Given the description of an element on the screen output the (x, y) to click on. 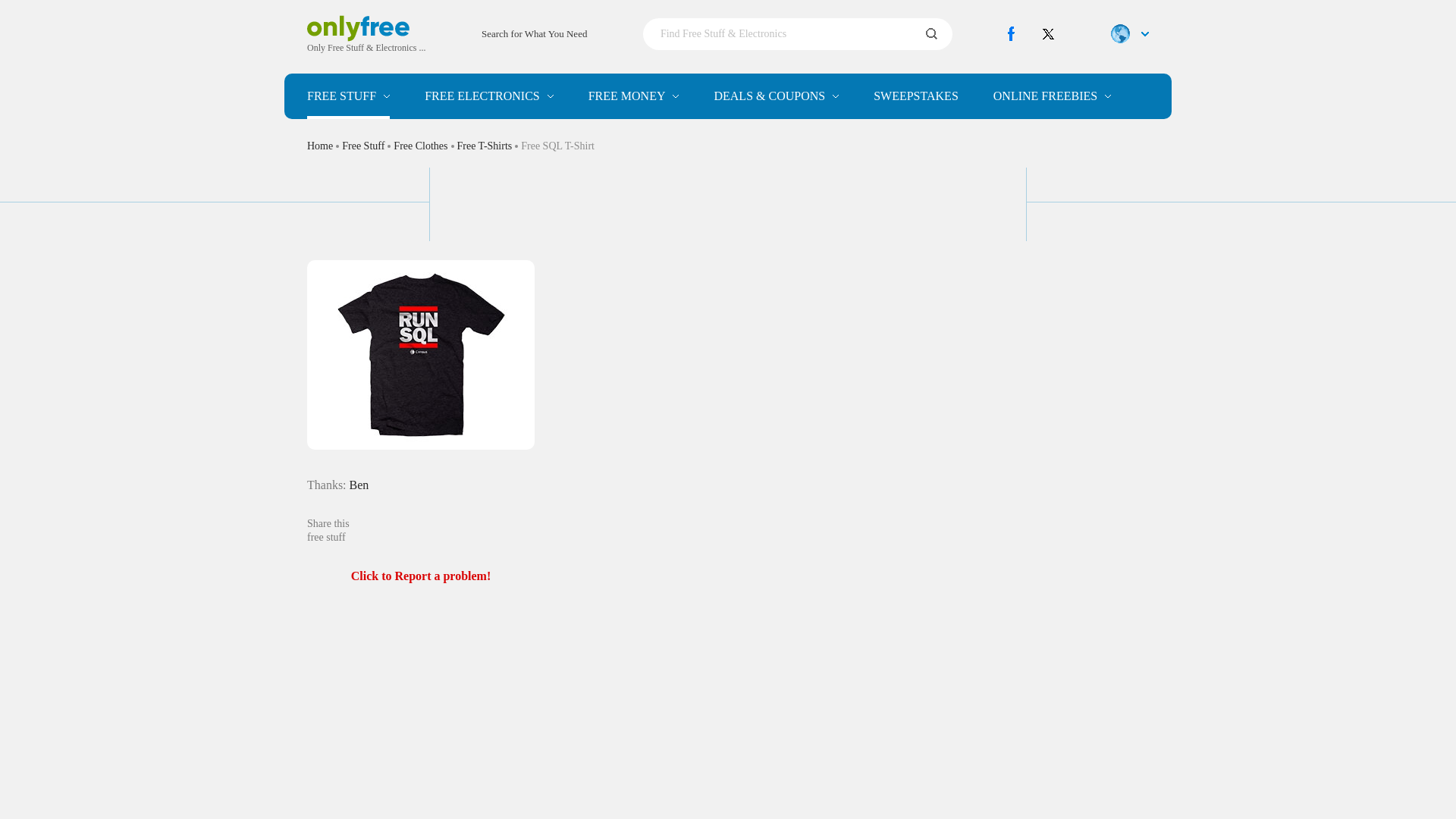
Free Stuff (348, 95)
FREE STUFF (348, 95)
Only Free on Twitter (1048, 33)
